Given the description of an element on the screen output the (x, y) to click on. 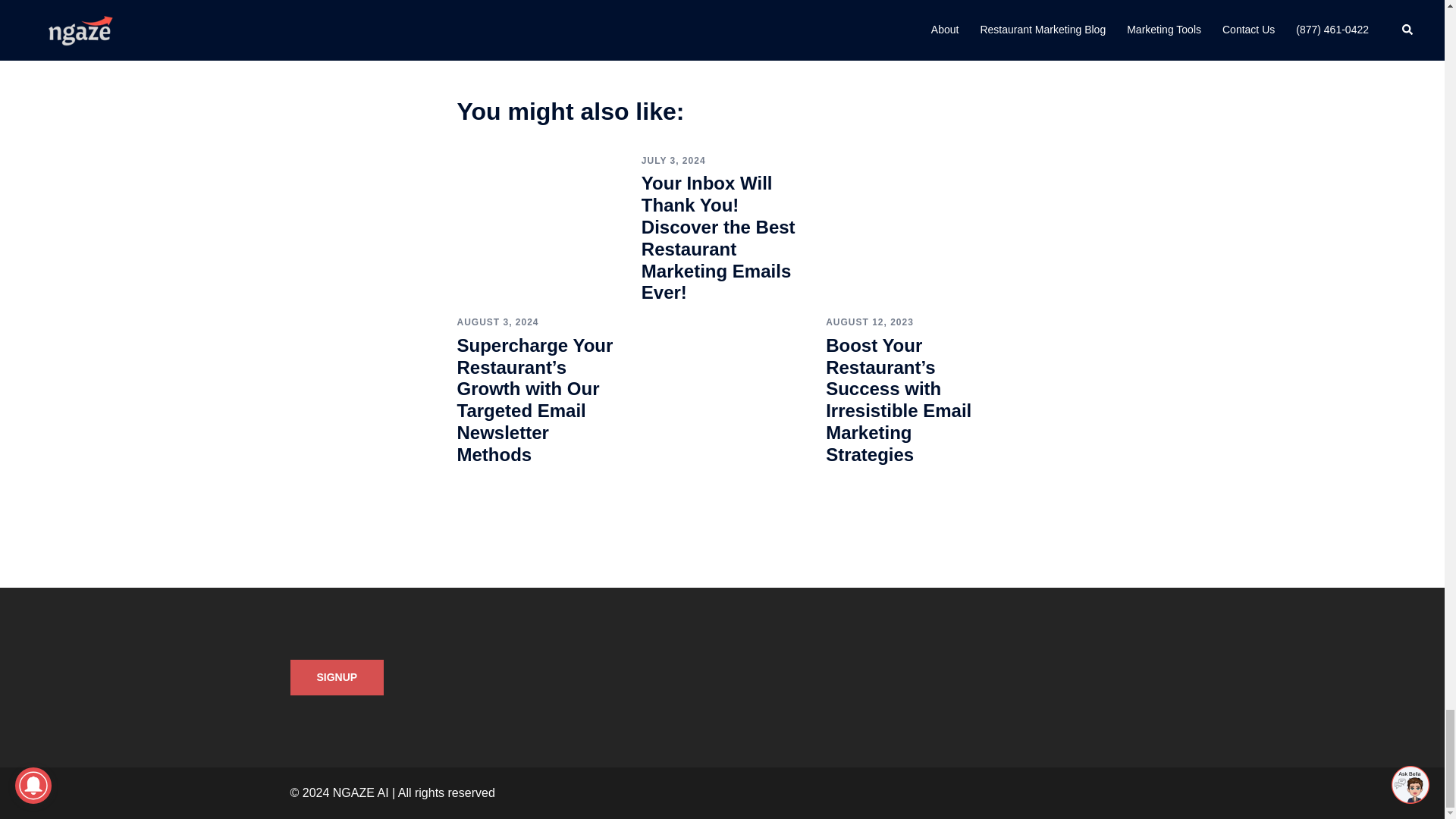
SIGNUP (336, 678)
JULY 3, 2024 (674, 160)
AUGUST 3, 2024 (497, 321)
AUGUST 12, 2023 (869, 321)
